Given the description of an element on the screen output the (x, y) to click on. 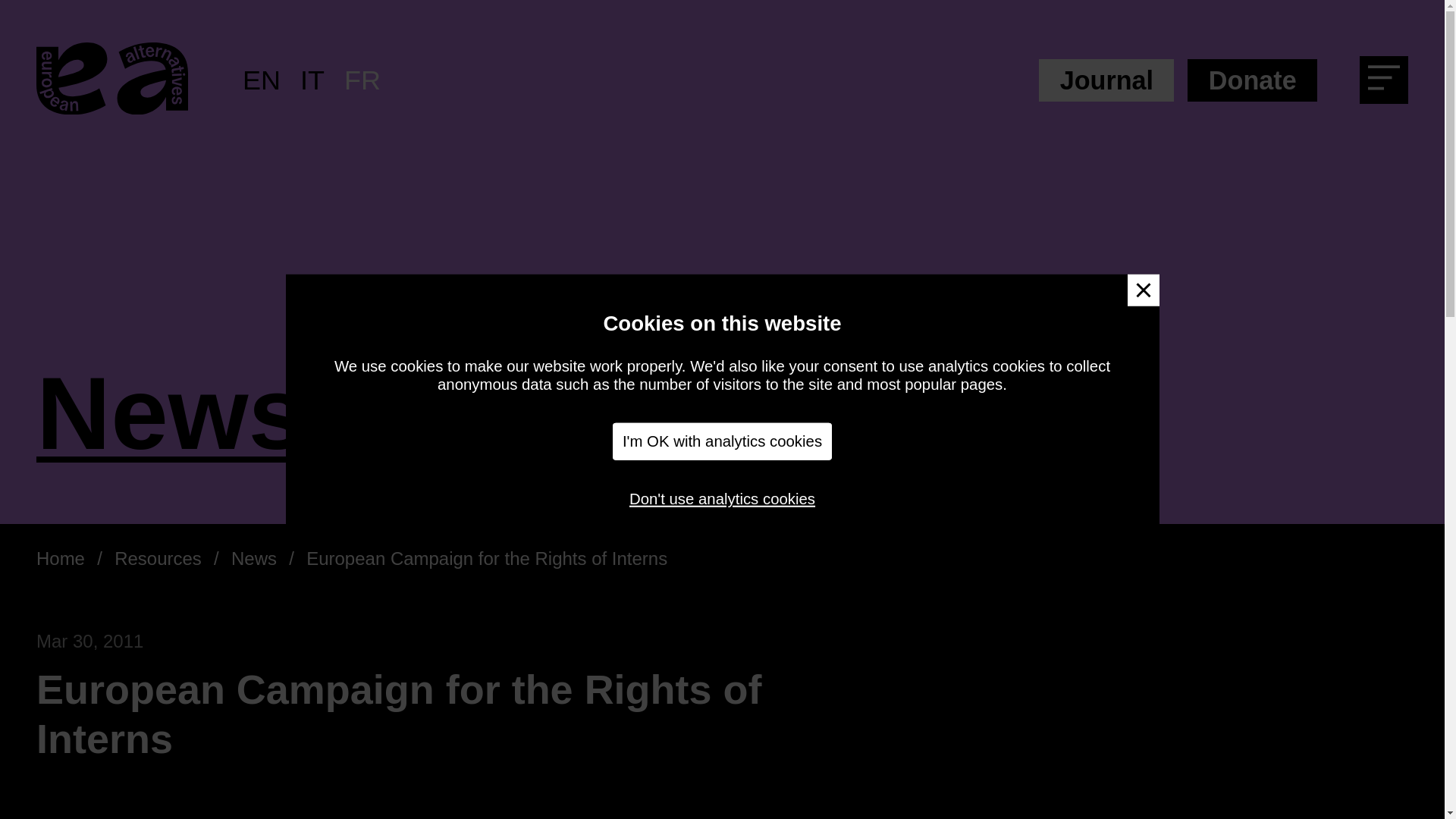
I'm OK with analytics cookies (722, 441)
FR (361, 79)
Go to the European Alternatives home page (111, 79)
EN (262, 79)
FR (361, 79)
Menu (1389, 82)
Dismiss message (1142, 290)
EN (262, 79)
Don't use analytics cookies (721, 498)
Journal (1106, 79)
